Given the description of an element on the screen output the (x, y) to click on. 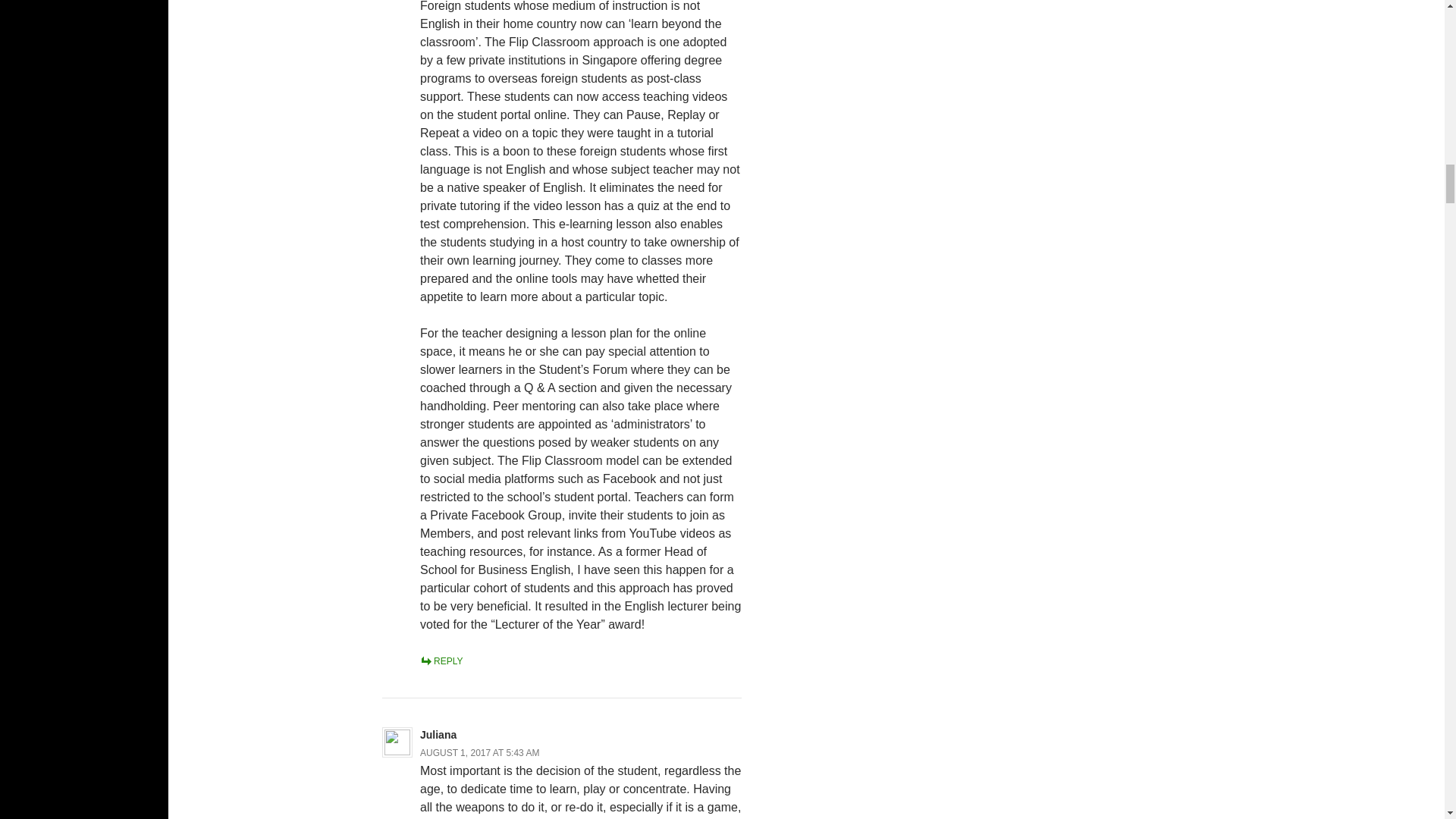
REPLY (441, 661)
